Given the description of an element on the screen output the (x, y) to click on. 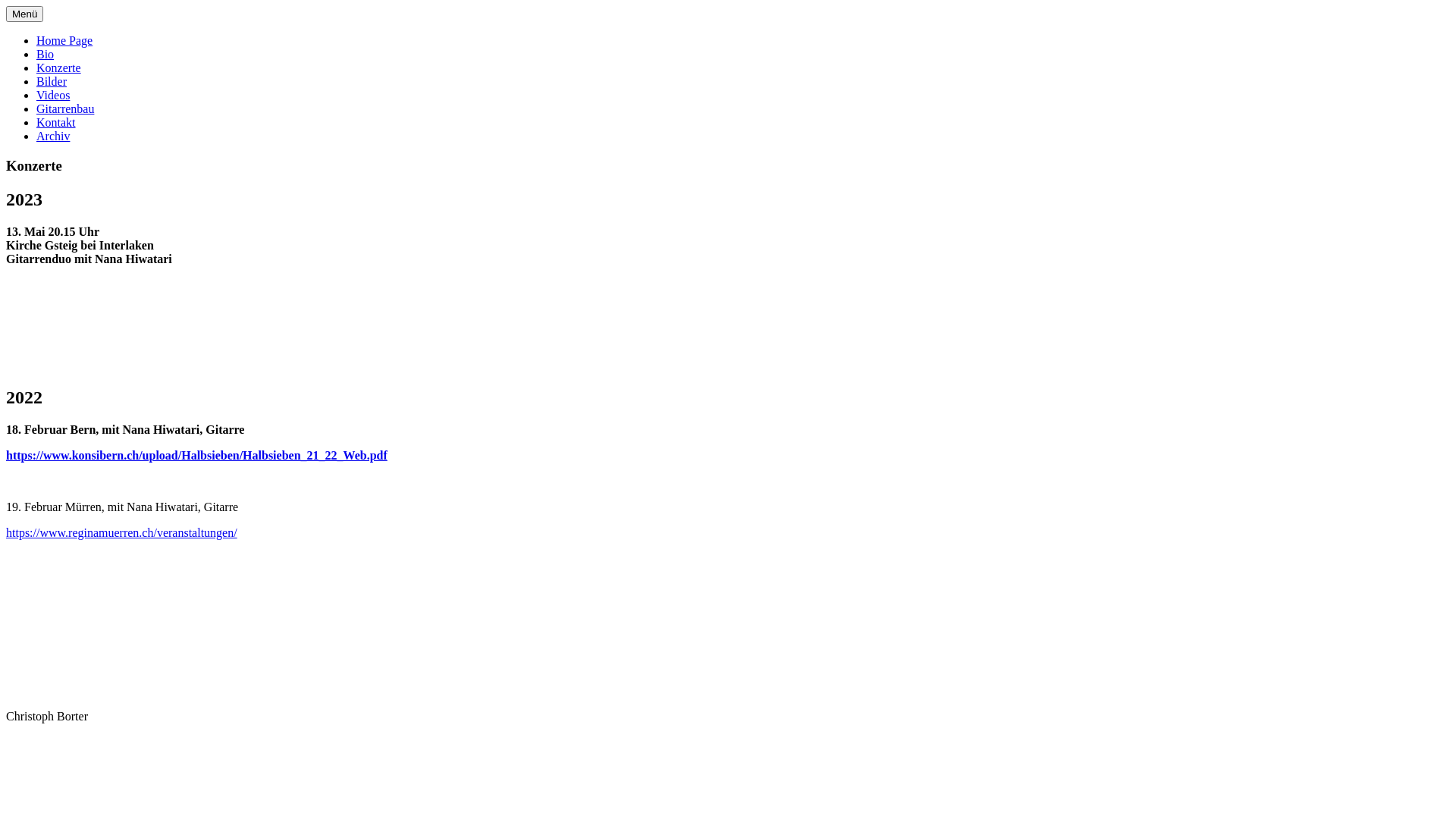
Home Page Element type: text (64, 40)
Bilder Element type: text (51, 81)
https://www.reginamuerren.ch/veranstaltungen/ Element type: text (121, 532)
Kontakt Element type: text (55, 122)
Gitarrenbau Element type: text (65, 108)
Bio Element type: text (44, 53)
Videos Element type: text (52, 94)
Archiv Element type: text (52, 135)
Konzerte Element type: text (58, 67)
